Given the description of an element on the screen output the (x, y) to click on. 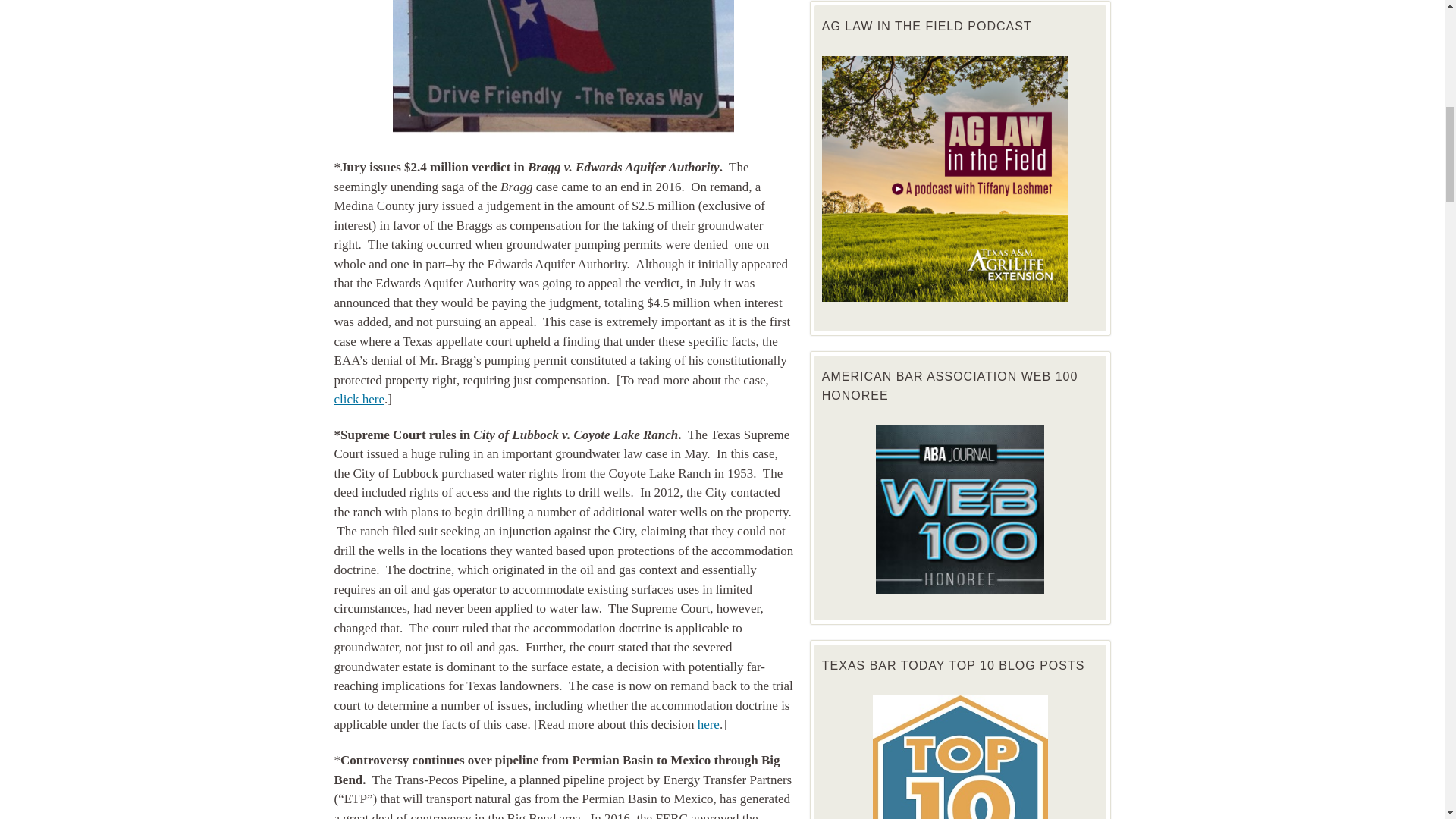
click here (358, 399)
here (708, 724)
